Given the description of an element on the screen output the (x, y) to click on. 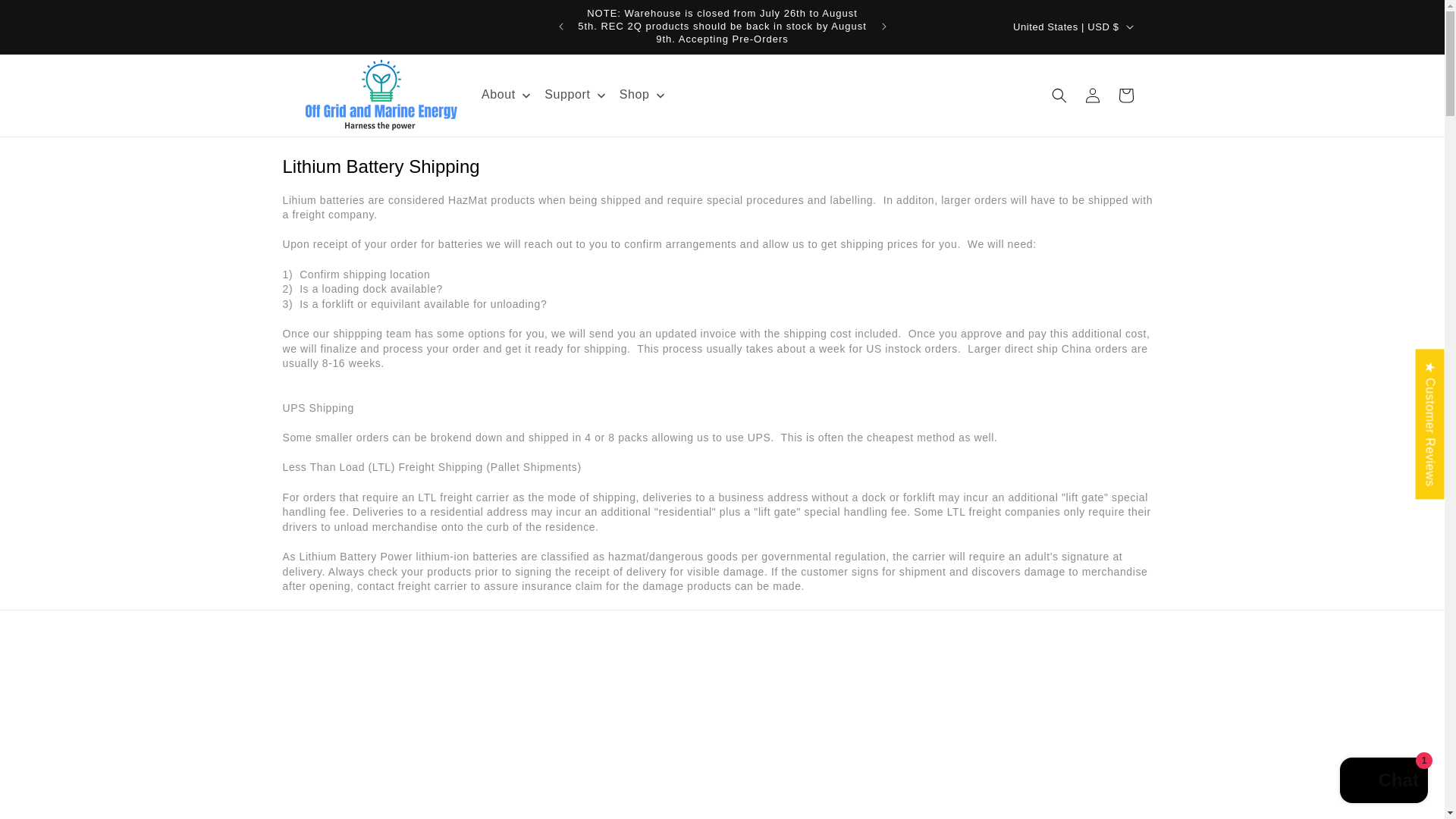
Support (575, 95)
Skip to content (45, 17)
About (506, 95)
Shop (643, 95)
